Given the description of an element on the screen output the (x, y) to click on. 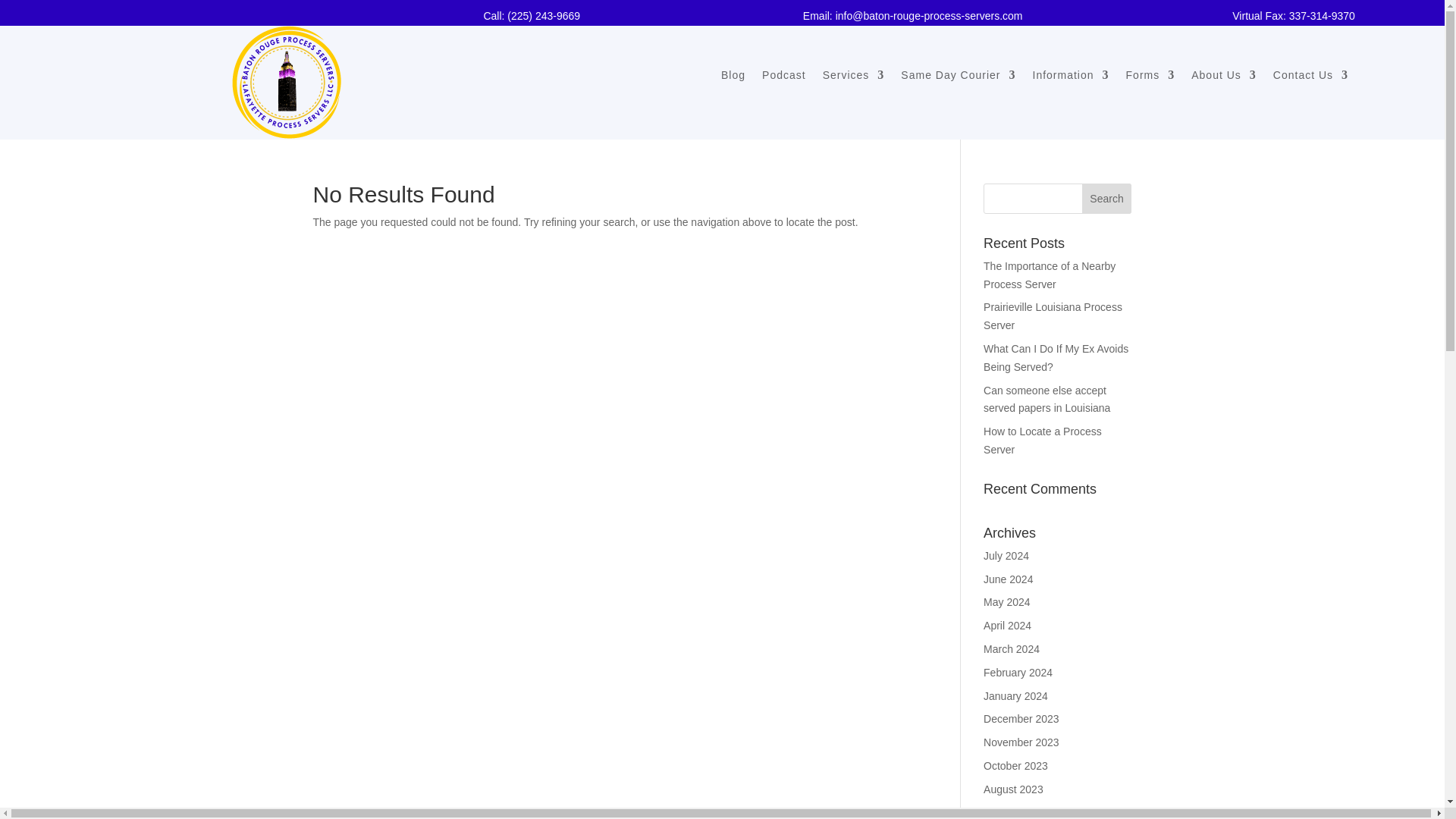
Same Day Courier (957, 77)
Information (1070, 77)
Blog (732, 77)
Contact Us (1310, 77)
Services (853, 77)
Podcast (783, 77)
Search (1106, 198)
About Us (1223, 77)
Forms (1149, 77)
